Given the description of an element on the screen output the (x, y) to click on. 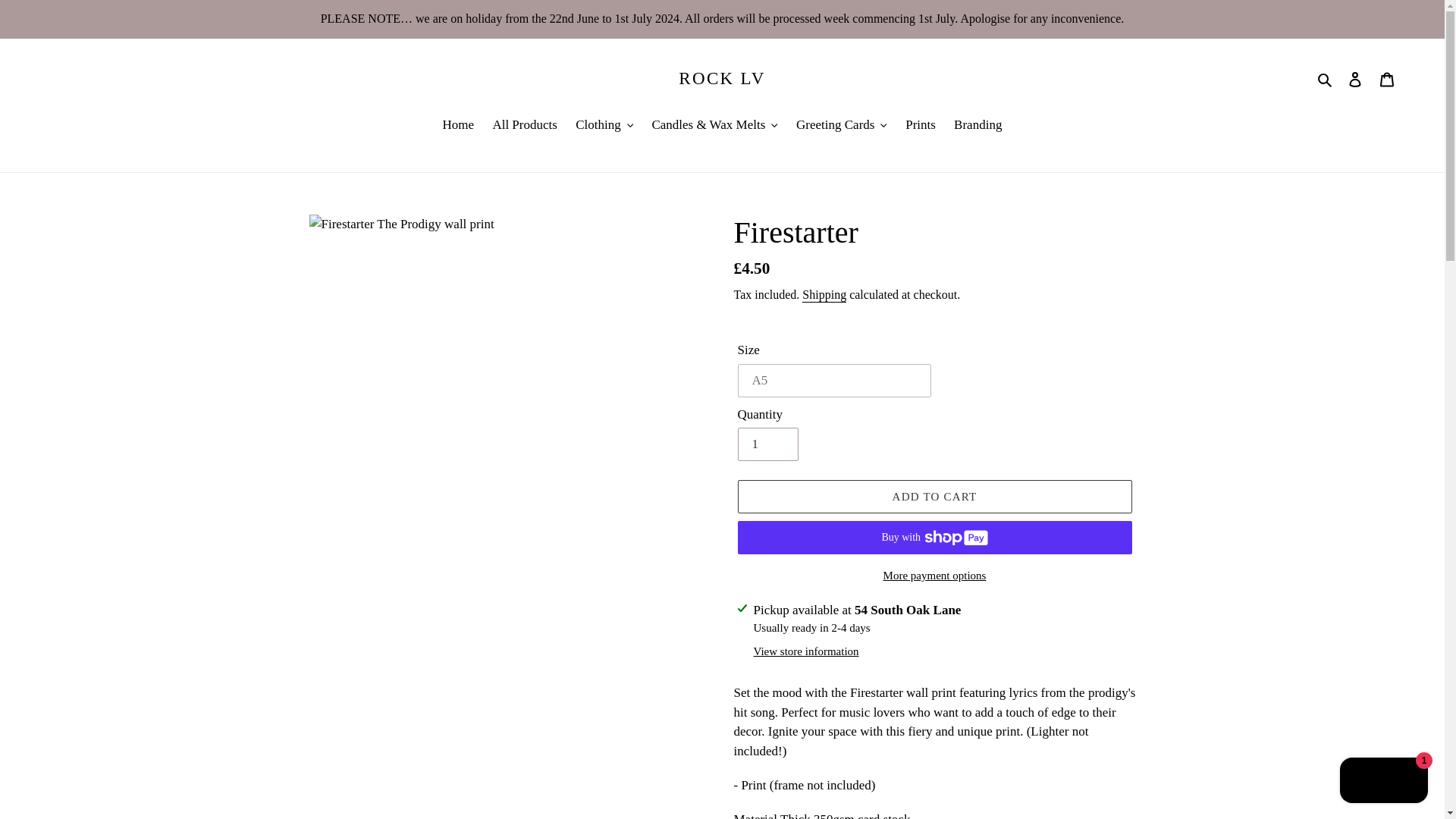
Search (1326, 78)
ROCK LV (721, 78)
1 (766, 444)
Cart (1387, 78)
Shopify online store chat (1383, 781)
Log in (1355, 78)
